Given the description of an element on the screen output the (x, y) to click on. 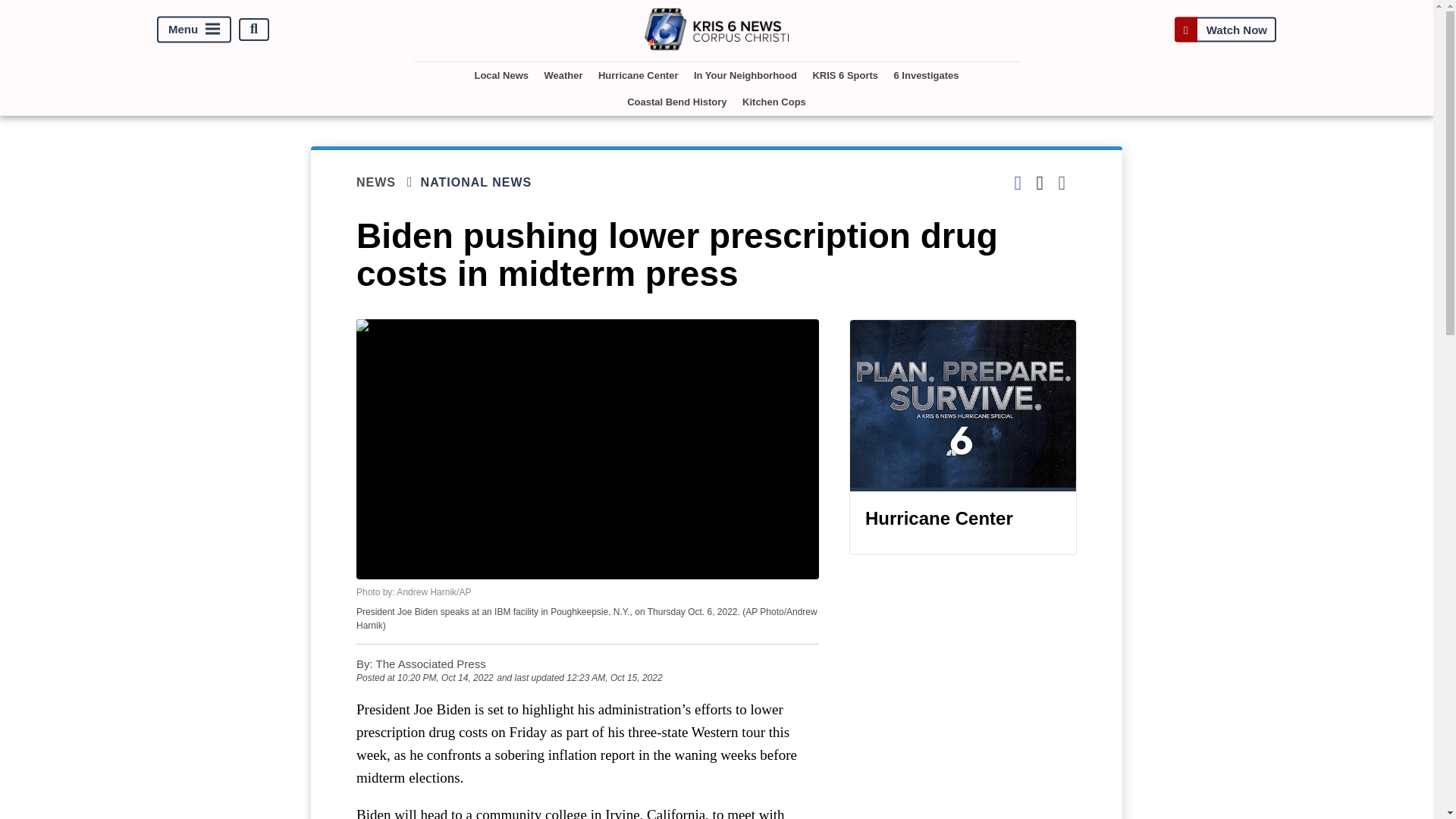
Watch Now (1224, 29)
Menu (194, 28)
